Given the description of an element on the screen output the (x, y) to click on. 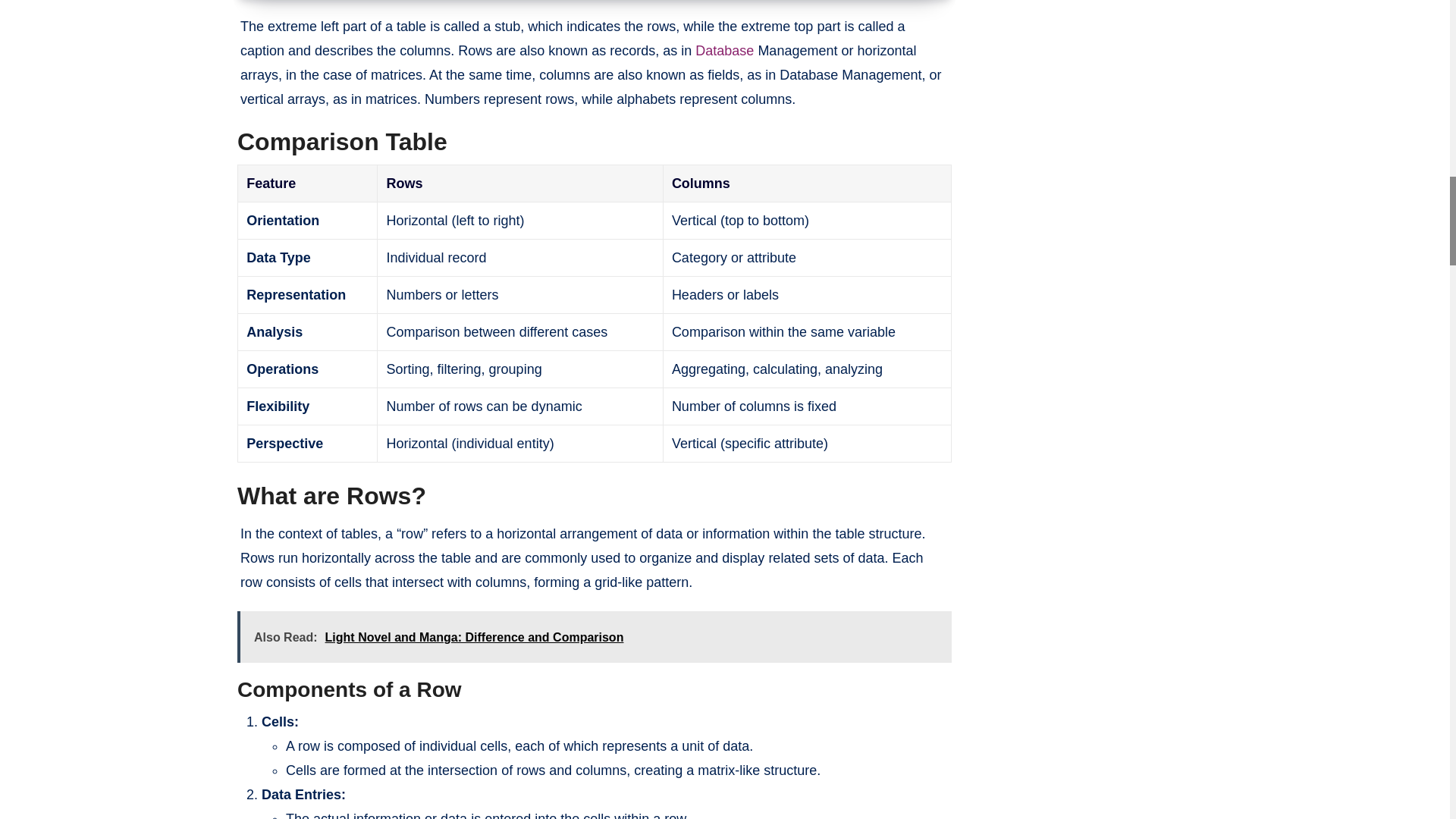
Also Read:  Light Novel and Manga: Difference and Comparison (594, 636)
Database (724, 50)
Database (724, 50)
